Given the description of an element on the screen output the (x, y) to click on. 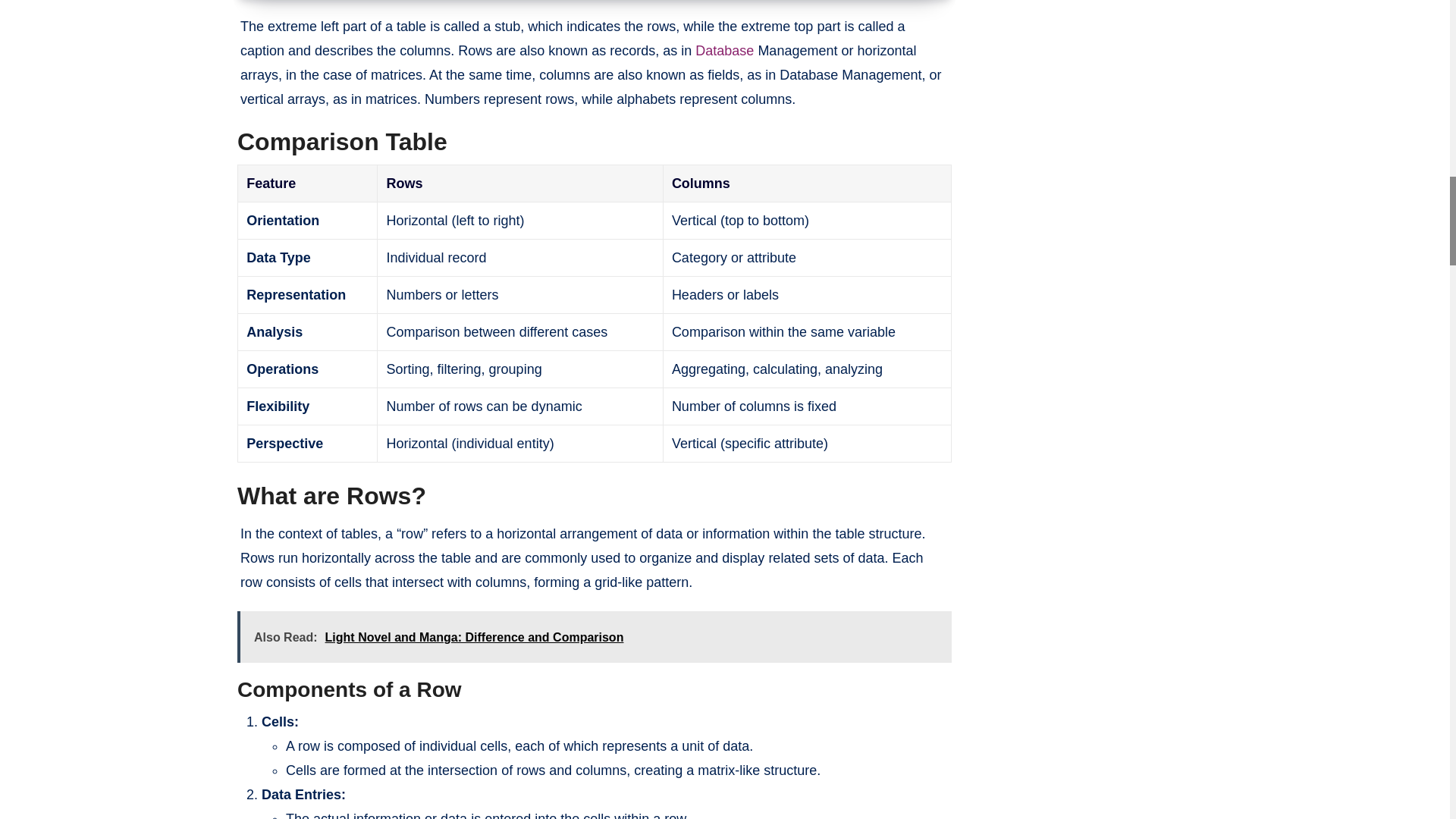
Also Read:  Light Novel and Manga: Difference and Comparison (594, 636)
Database (724, 50)
Database (724, 50)
